Given the description of an element on the screen output the (x, y) to click on. 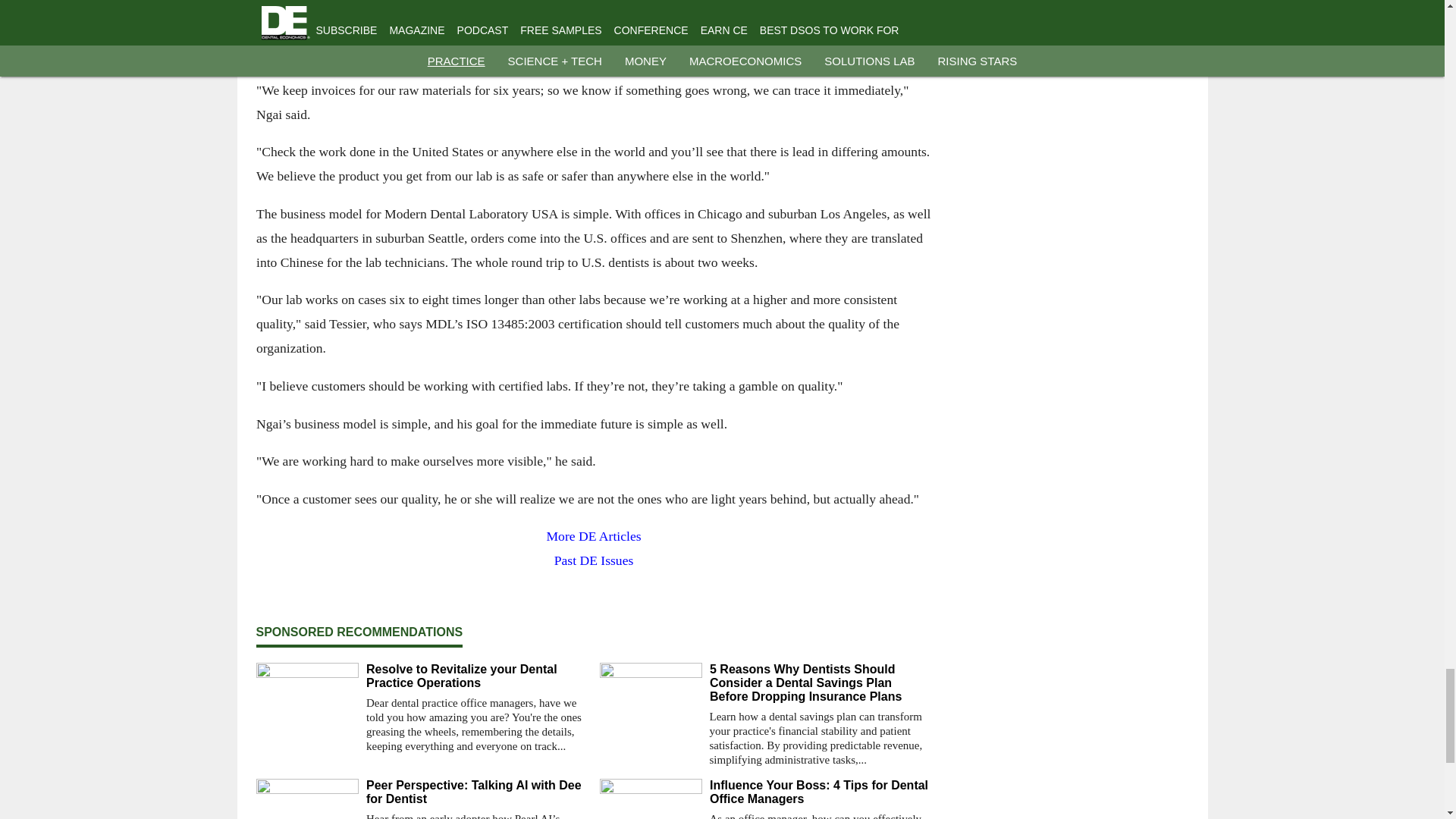
Pennwell web 300 450 (593, 14)
More DE Articles (593, 536)
Past DE Issues (593, 560)
Peer Perspective: Talking AI with Dee for Dentist (476, 791)
Resolve to Revitalize your Dental Practice Operations (476, 676)
Influence Your Boss: 4 Tips for Dental Office Managers (820, 791)
